Given the description of an element on the screen output the (x, y) to click on. 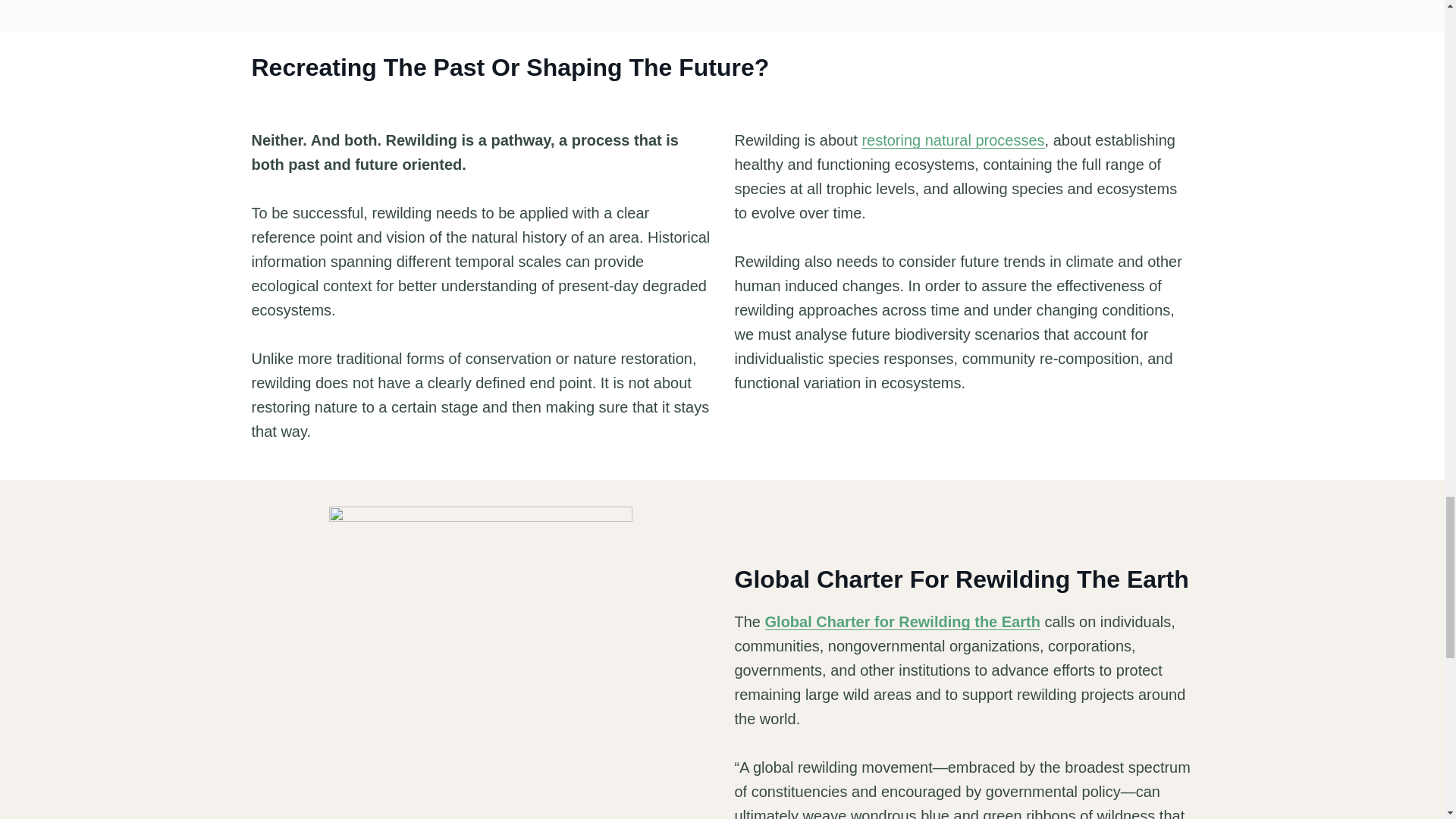
Global Charter for Rewilding the Earth (903, 621)
restoring natural processes (952, 139)
